Given the description of an element on the screen output the (x, y) to click on. 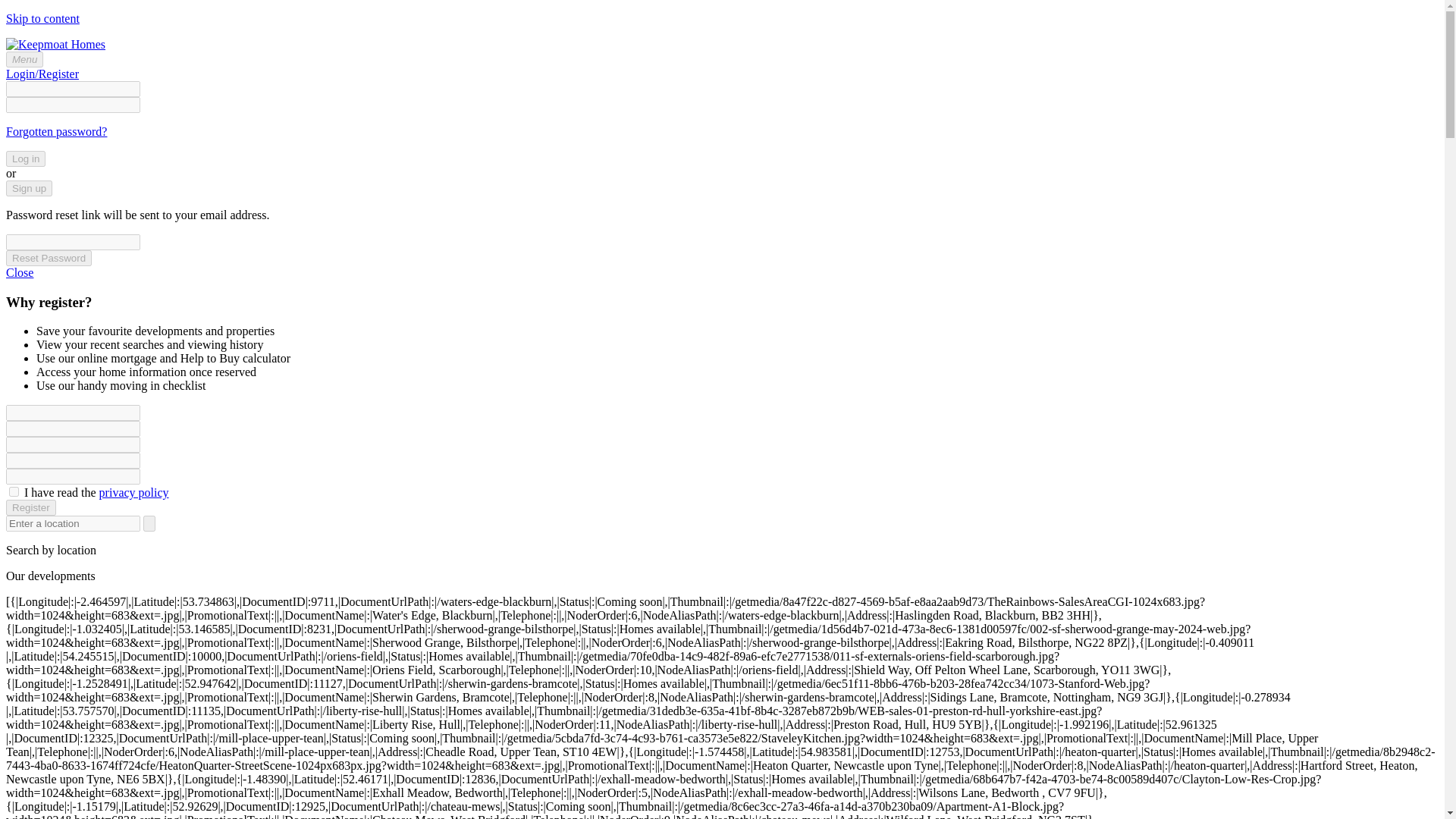
privacy policy (133, 492)
Close (19, 272)
Log in (25, 158)
Menu (24, 59)
Sign up (28, 188)
Register (30, 507)
Reset Password (48, 258)
Forgotten password? (55, 131)
Skip to content (42, 18)
true (13, 491)
